Given the description of an element on the screen output the (x, y) to click on. 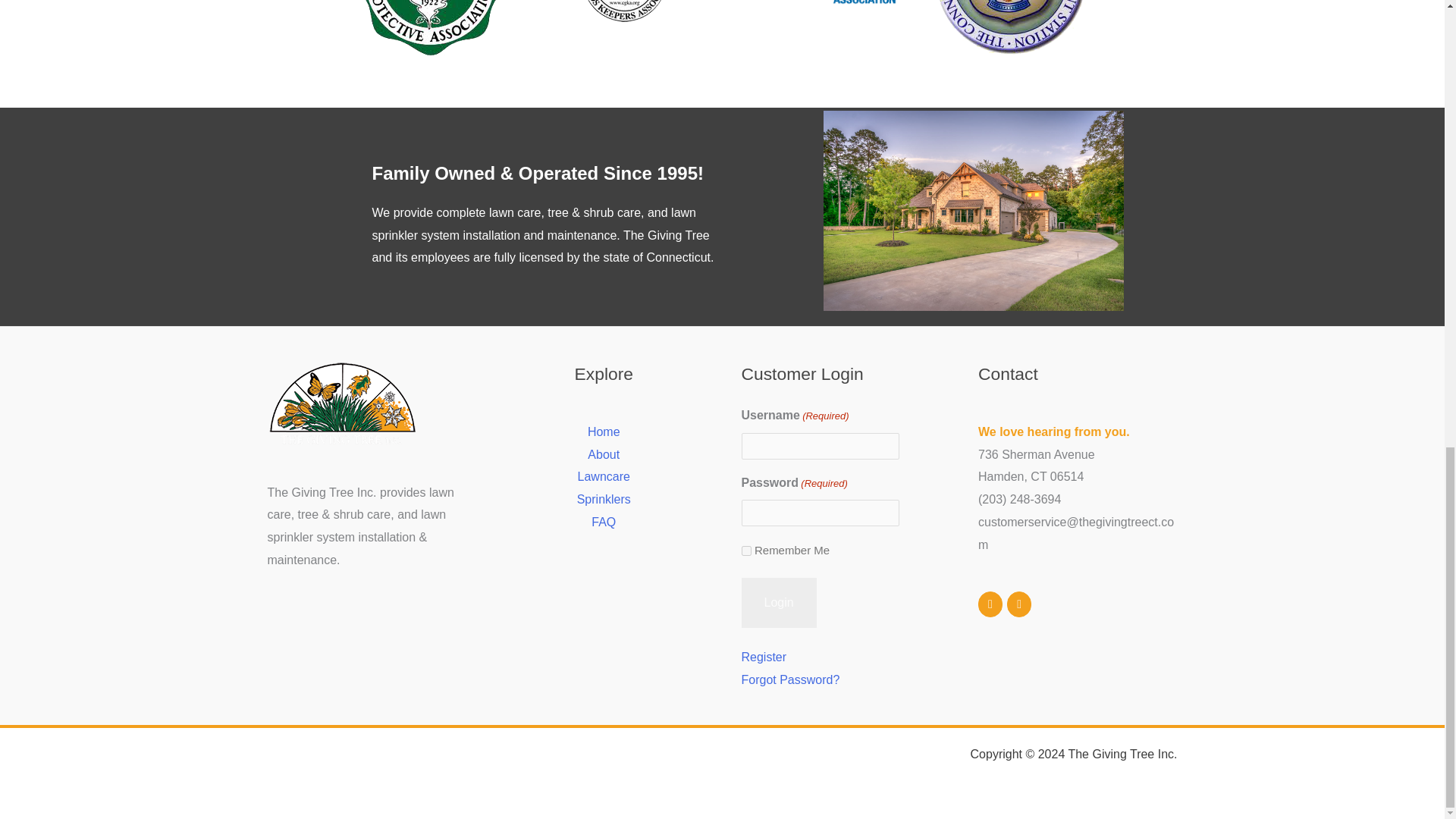
1 (746, 551)
Forgot Password? (790, 679)
Register (764, 656)
The Giving Tree Inc. on Instagram (1018, 604)
The Giving Tree Inc. on Facebook (990, 604)
Login (778, 603)
about page house (974, 210)
